Given the description of an element on the screen output the (x, y) to click on. 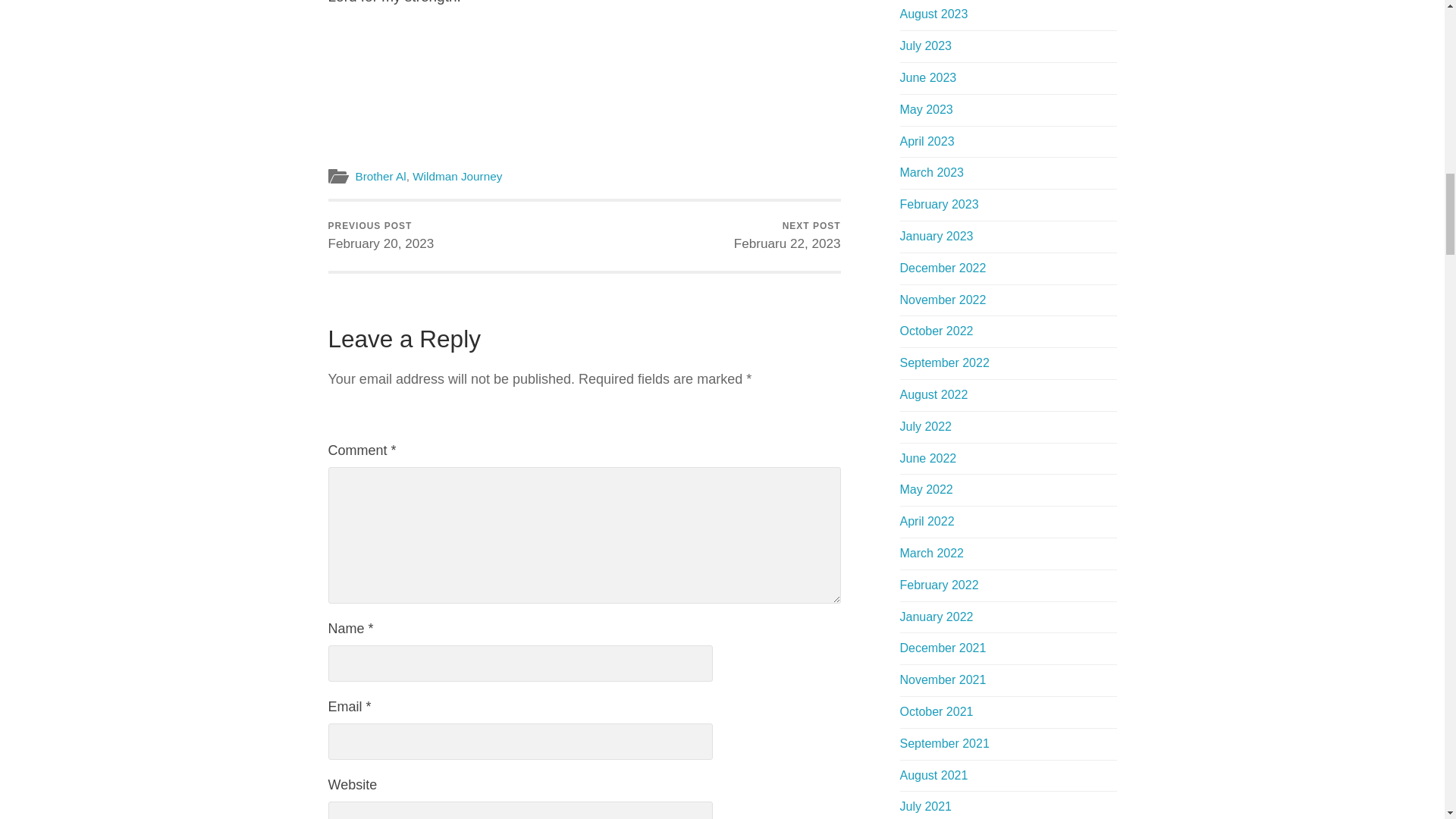
Wildman Journey (380, 236)
Brother Al (787, 236)
